Given the description of an element on the screen output the (x, y) to click on. 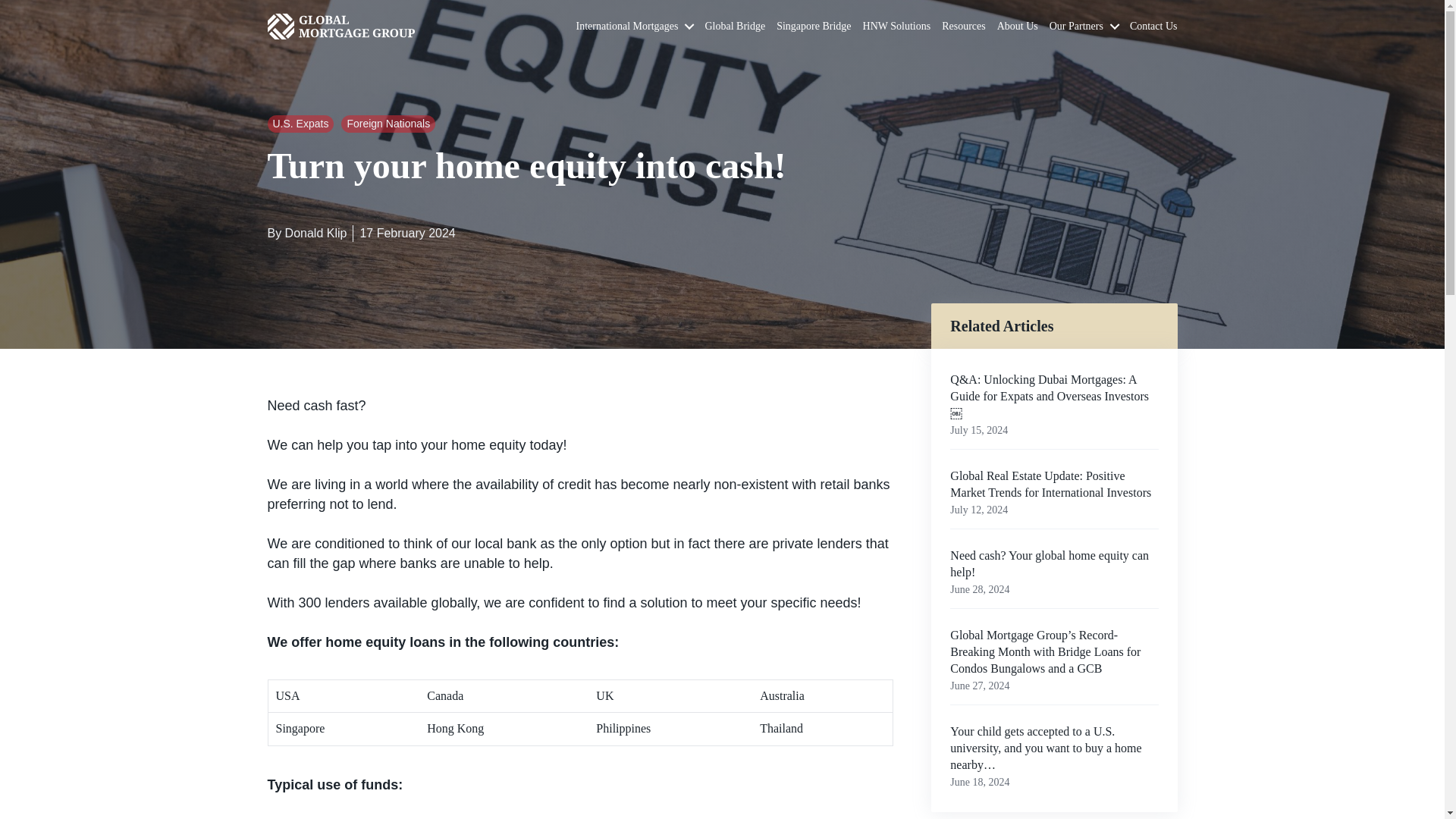
Resources (963, 26)
Global Bridge (734, 26)
Resources (963, 26)
Singapore Bridge (813, 26)
Singapore Bridge (813, 26)
About Us (1017, 26)
Our Partners (1083, 26)
Contact Us (1153, 26)
International Mortgages (635, 26)
HNW Solutions (897, 26)
International Mortgages (635, 26)
About Us (1017, 26)
Our Partners (1083, 26)
HNW Solutions (897, 26)
Global Bridge (734, 26)
